Given the description of an element on the screen output the (x, y) to click on. 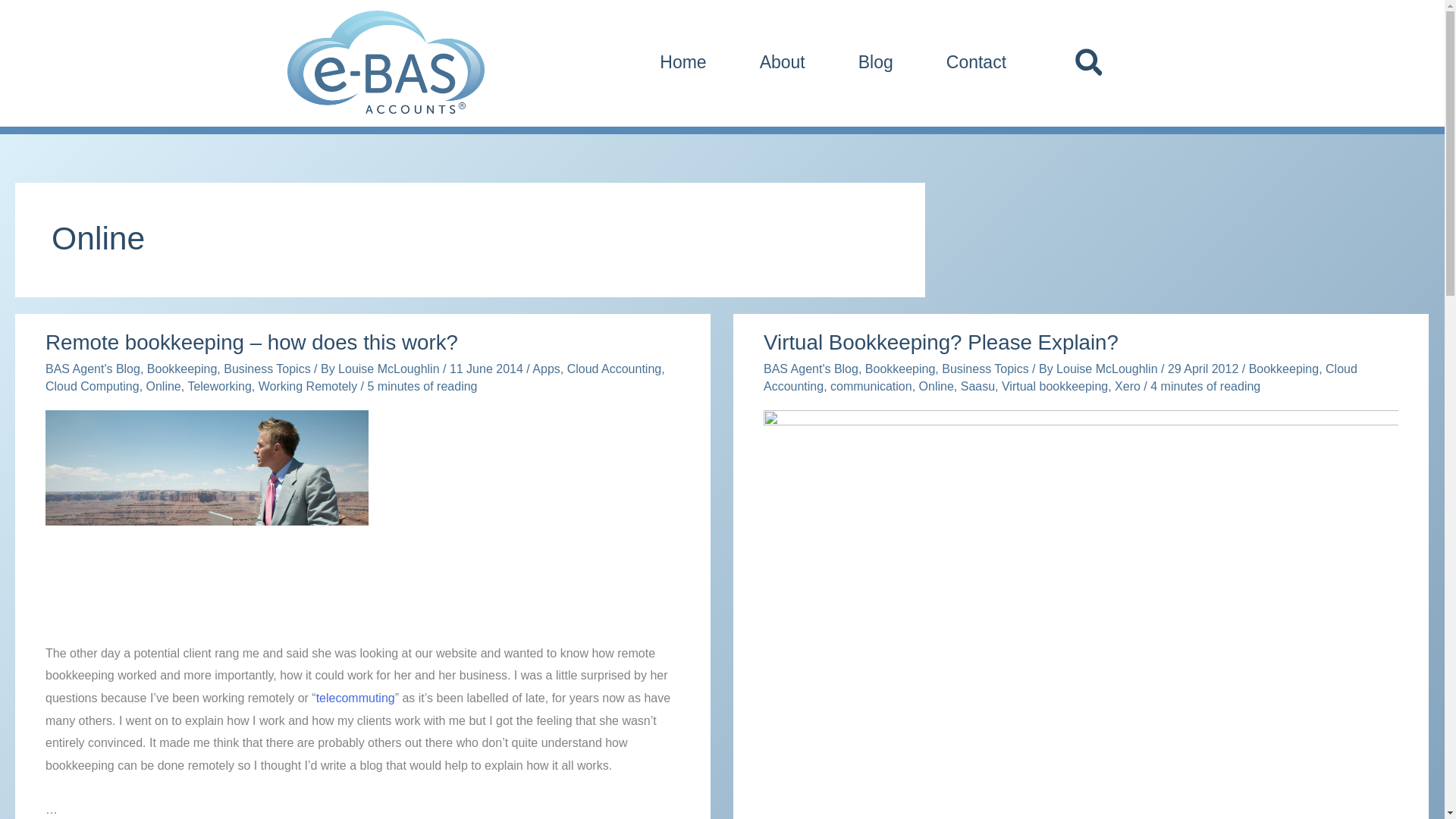
View all posts by Louise McLoughlin (389, 368)
Virtual Bookkeeping? Please Explain? (940, 341)
Business Topics (984, 368)
telecommuting (354, 697)
Home (682, 61)
BAS Agent's Blog (810, 368)
Online (163, 386)
Teleworking (218, 386)
Cloud Computing (92, 386)
BAS Agent's Blog (92, 368)
Bookkeeping (900, 368)
Bookkeeping (181, 368)
Apps (545, 368)
About (782, 61)
Working Remotely (307, 386)
